Given the description of an element on the screen output the (x, y) to click on. 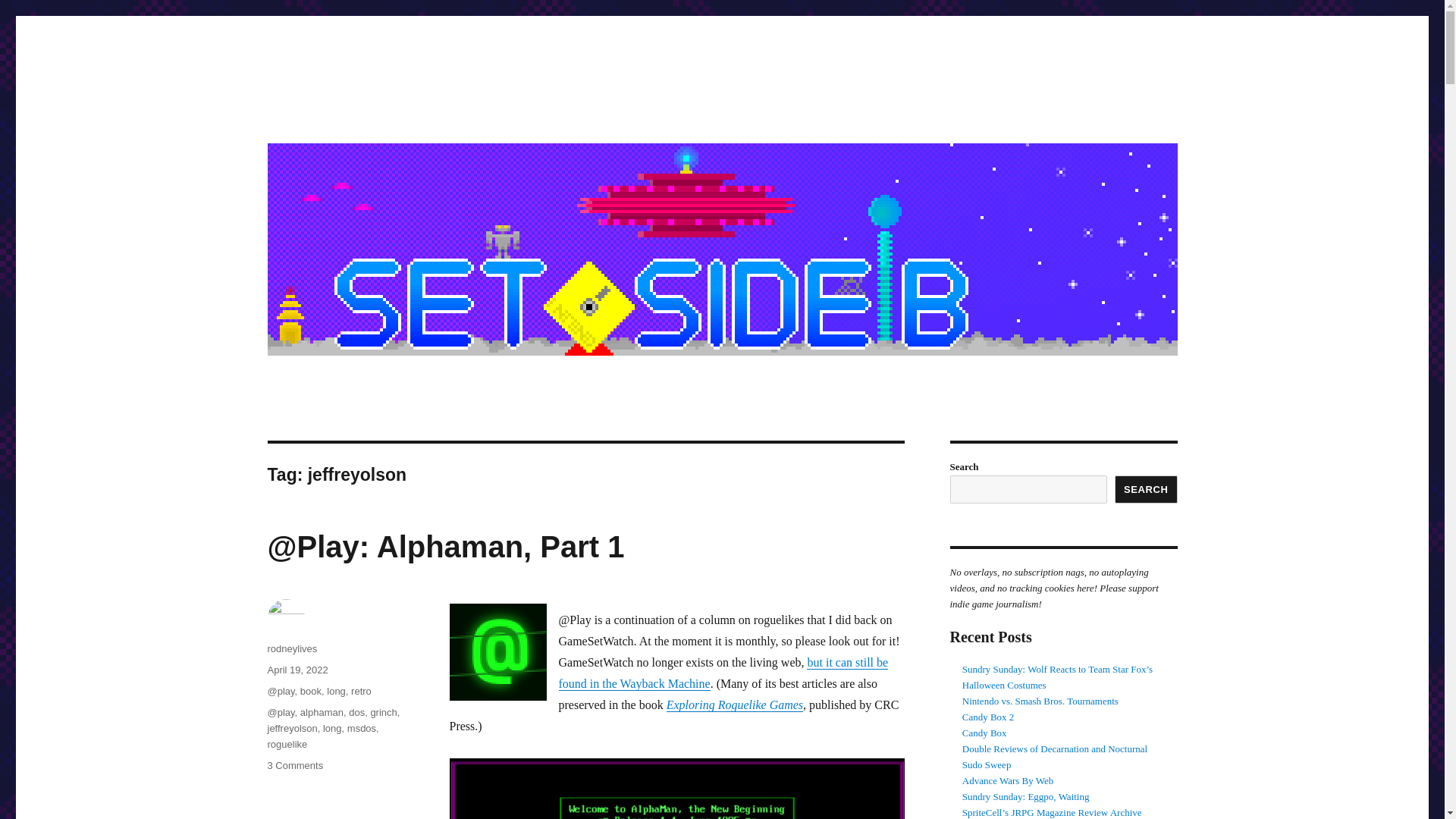
Sudo Sweep (986, 764)
msdos (361, 727)
long (336, 690)
rodneylives (291, 648)
long (332, 727)
April 19, 2022 (296, 669)
Double Reviews of Decarnation and Nocturnal (1054, 748)
jeffreyolson (291, 727)
Nintendo vs. Smash Bros. Tournaments (1040, 700)
Set Side B (318, 114)
retro (360, 690)
grinch (382, 712)
book (310, 690)
but it can still be found in the Wayback Machine (722, 673)
Exploring Roguelike Games (734, 704)
